Given the description of an element on the screen output the (x, y) to click on. 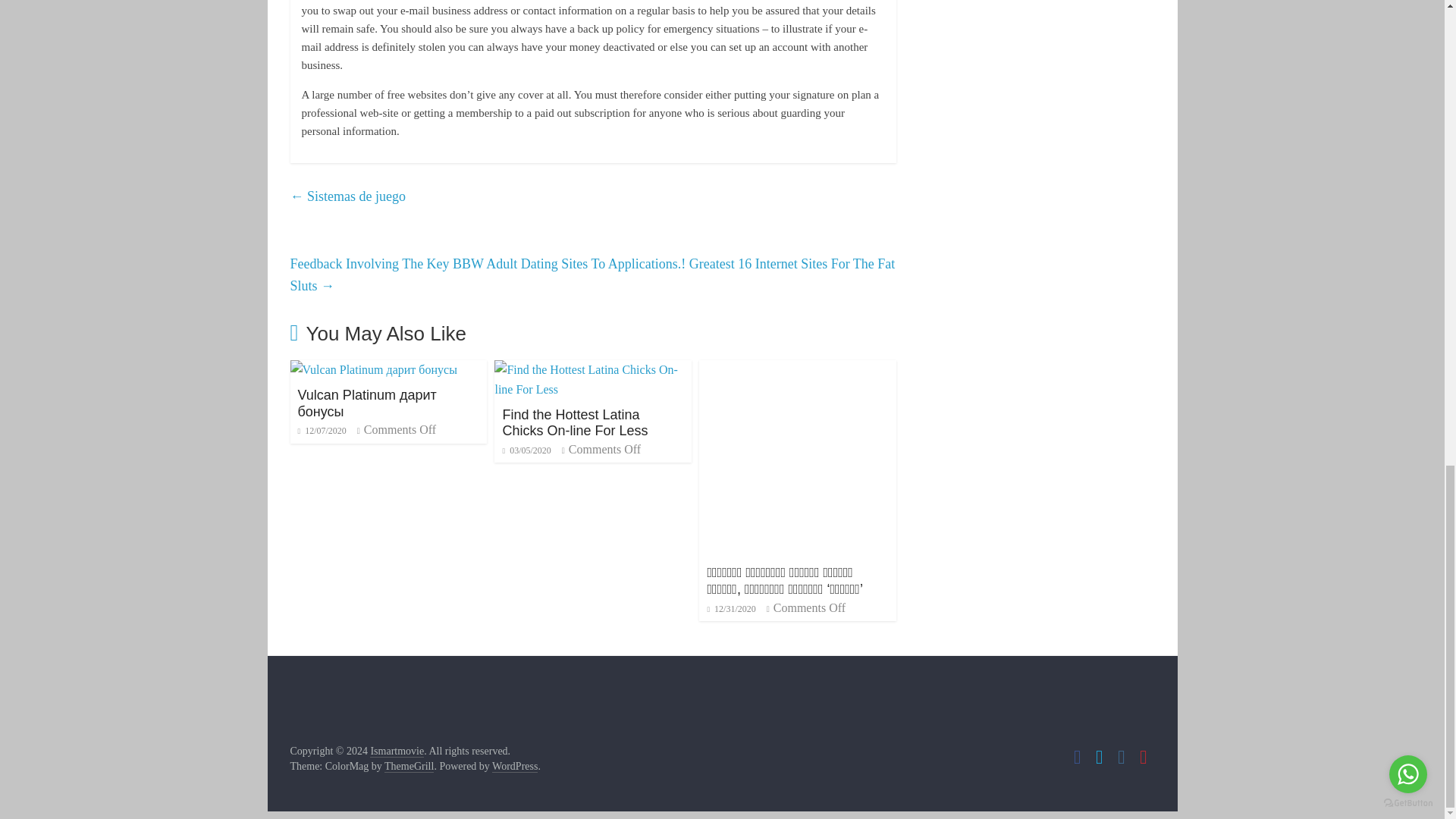
Find the Hottest Latina Chicks On-line For Less (574, 422)
Find the Hottest Latina Chicks On-line For Less (574, 422)
12:00 am (526, 450)
Find the Hottest Latina Chicks On-line For Less (593, 369)
9:55 pm (321, 430)
